Given the description of an element on the screen output the (x, y) to click on. 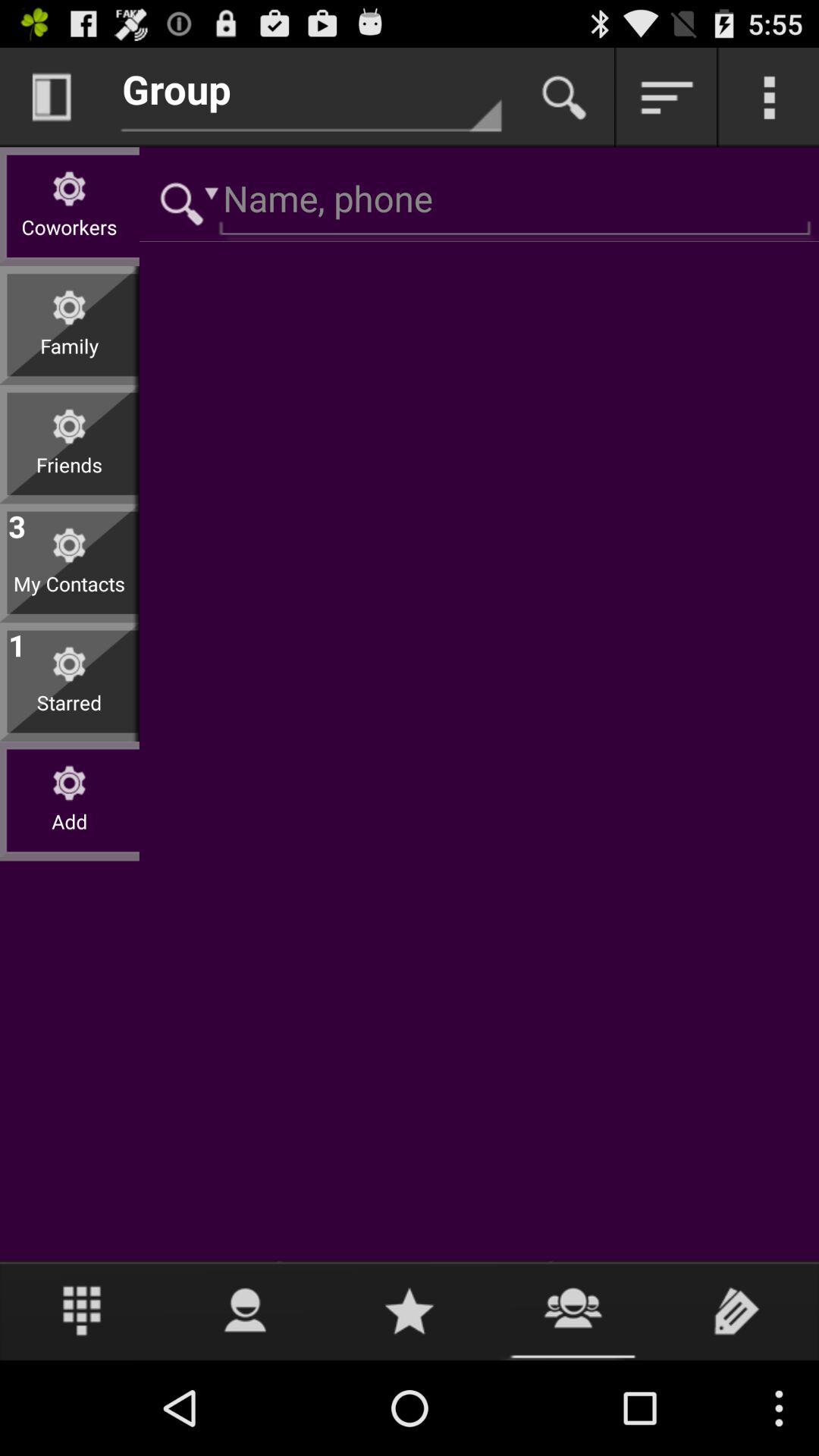
group message (573, 1310)
